Given the description of an element on the screen output the (x, y) to click on. 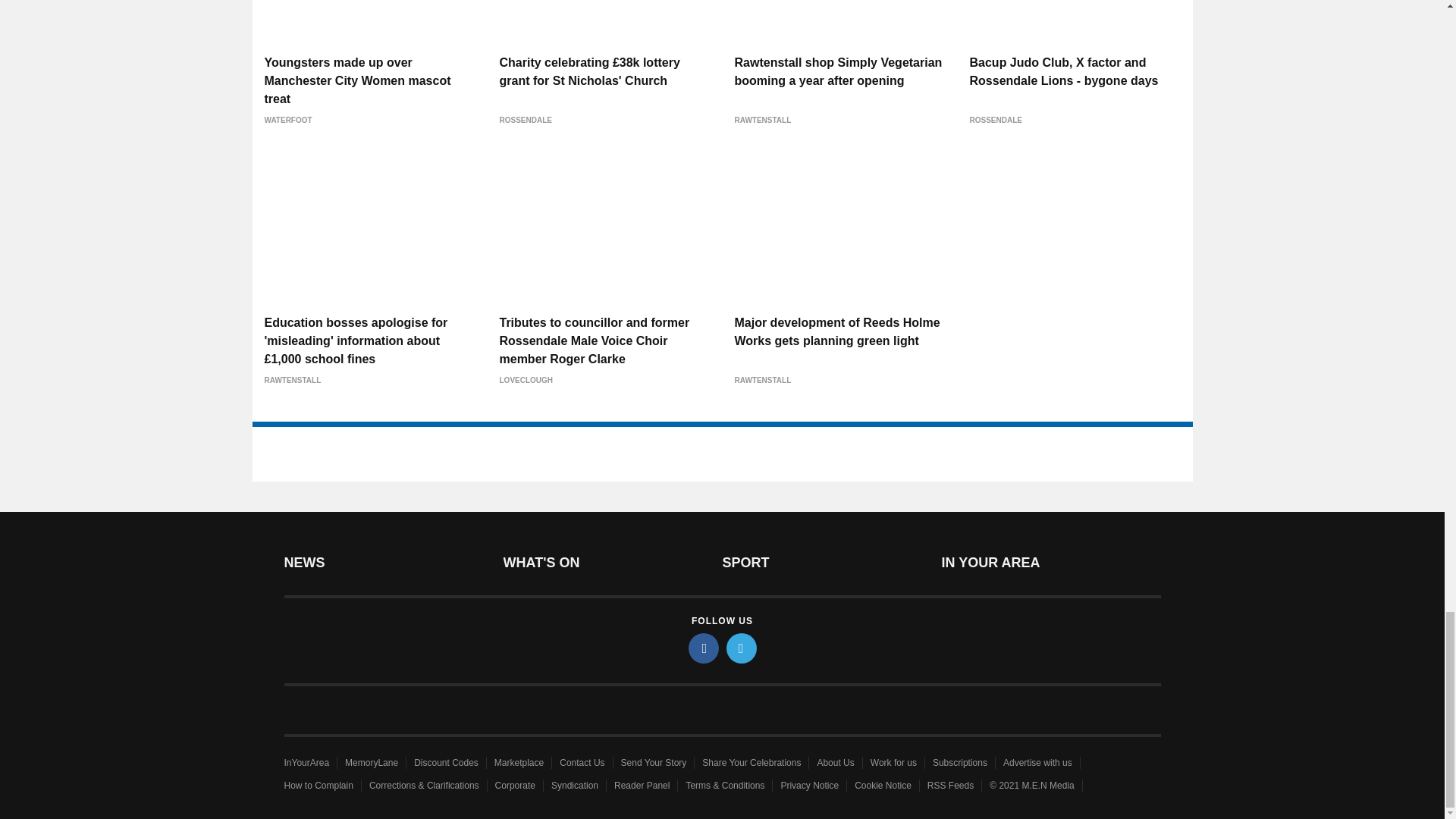
twitter (741, 648)
facebook (703, 648)
